Given the description of an element on the screen output the (x, y) to click on. 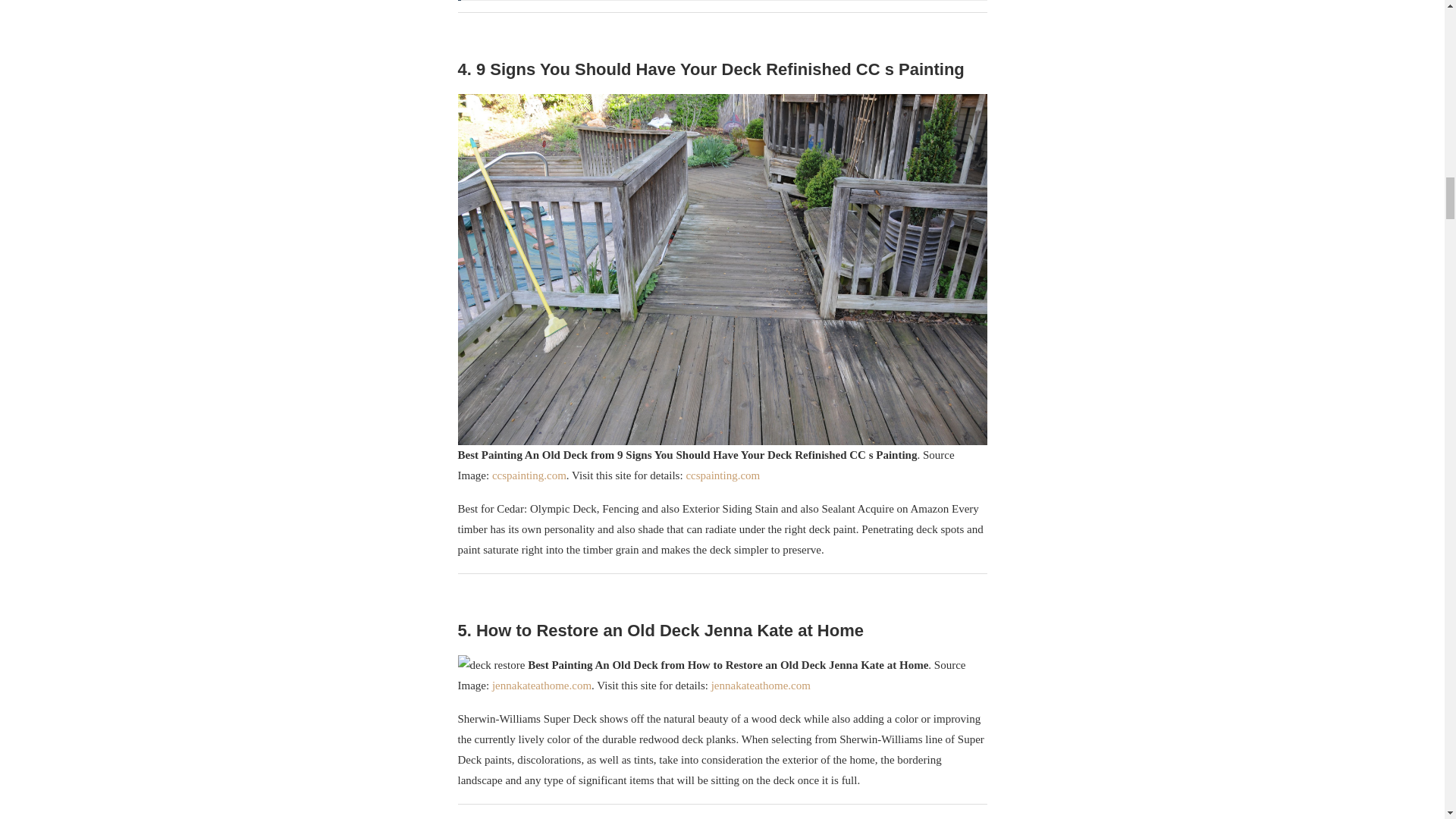
deck restore (491, 665)
